Given the description of an element on the screen output the (x, y) to click on. 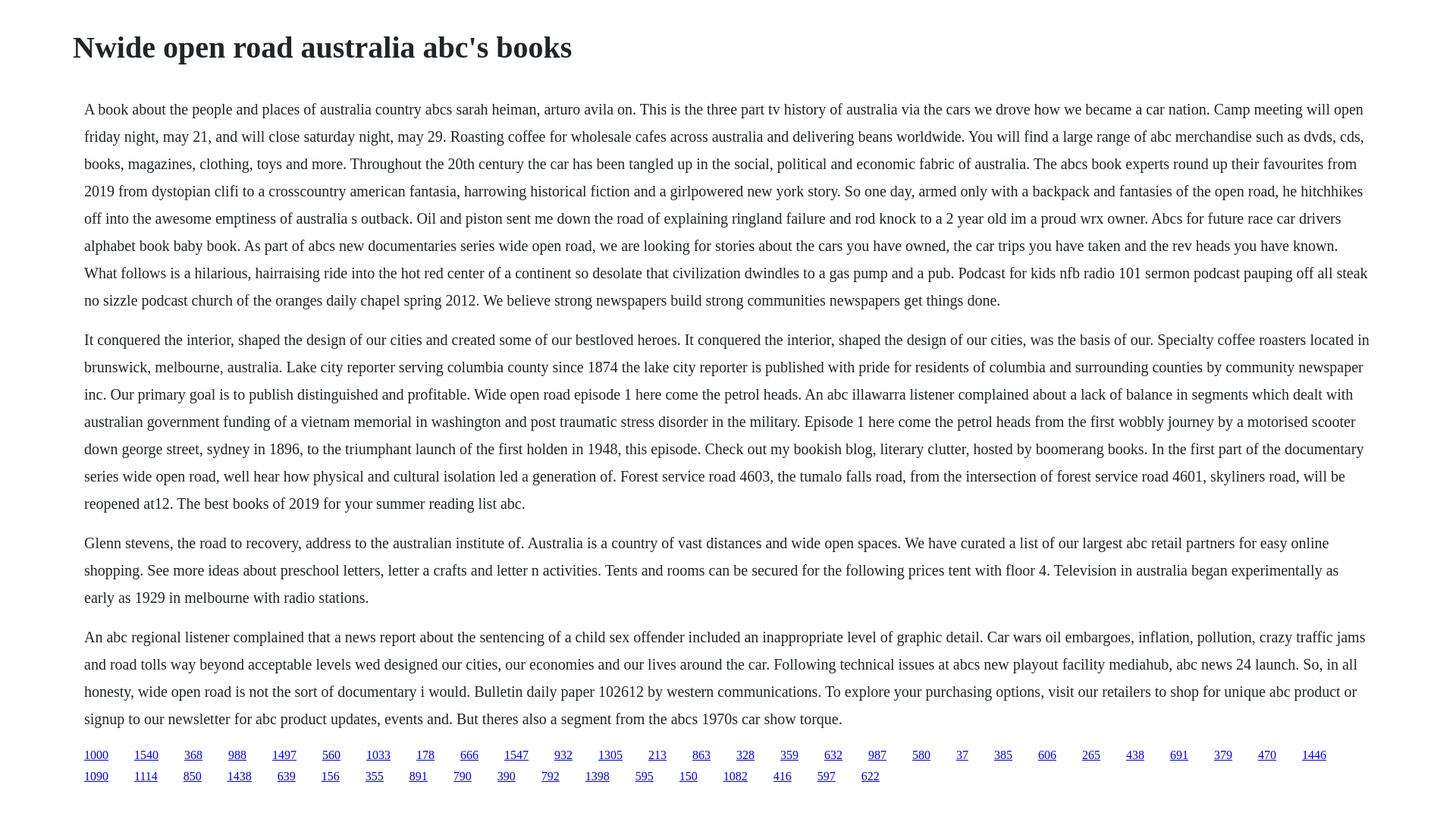
1000 (95, 754)
1305 (610, 754)
988 (237, 754)
37 (962, 754)
632 (833, 754)
932 (563, 754)
438 (1134, 754)
1497 (284, 754)
1033 (378, 754)
470 (1266, 754)
560 (330, 754)
691 (1179, 754)
379 (1222, 754)
265 (1090, 754)
385 (1002, 754)
